Given the description of an element on the screen output the (x, y) to click on. 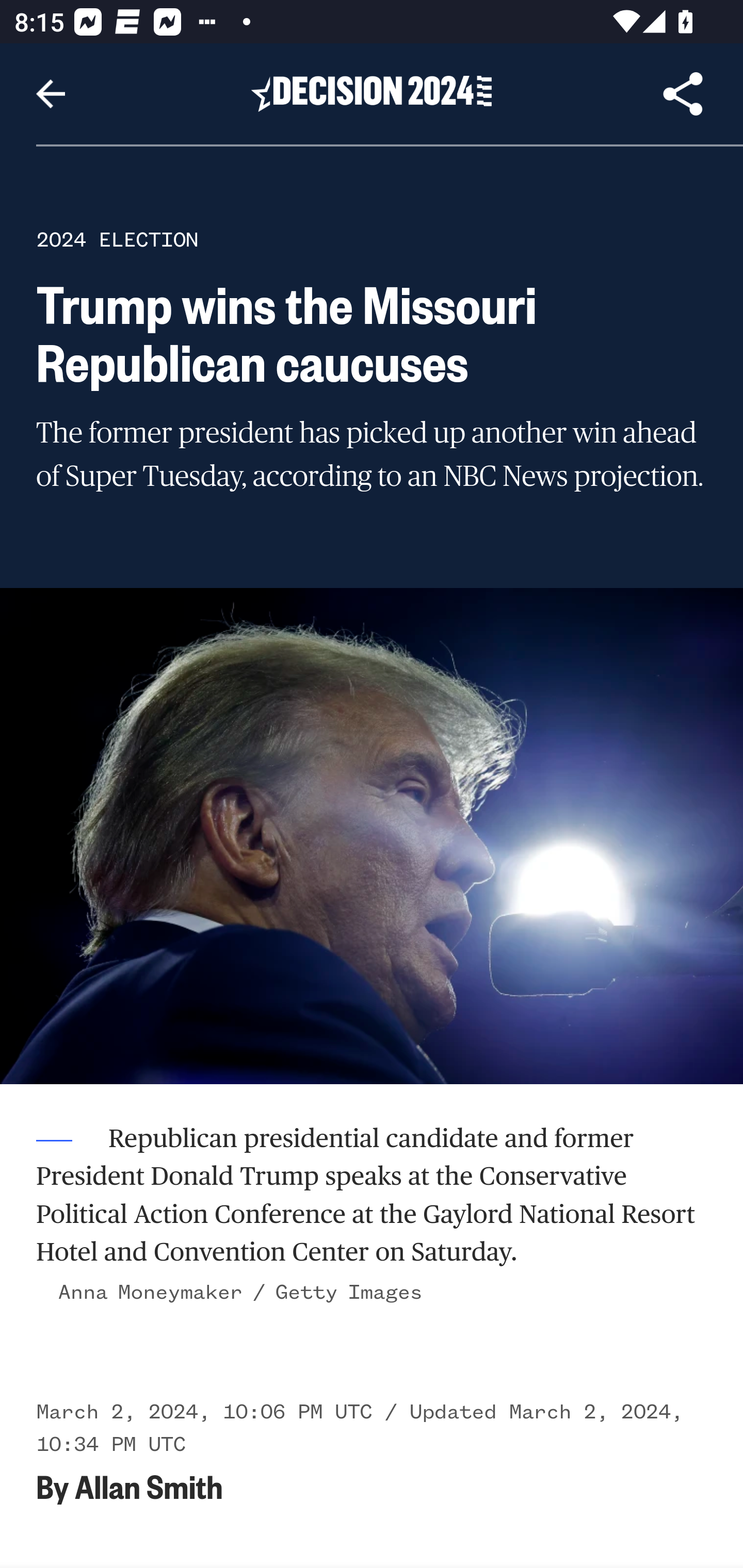
Navigate up (50, 93)
Share Article, button (683, 94)
Header, Decision 2024 (371, 93)
2024 ELECTION (117, 239)
